Given the description of an element on the screen output the (x, y) to click on. 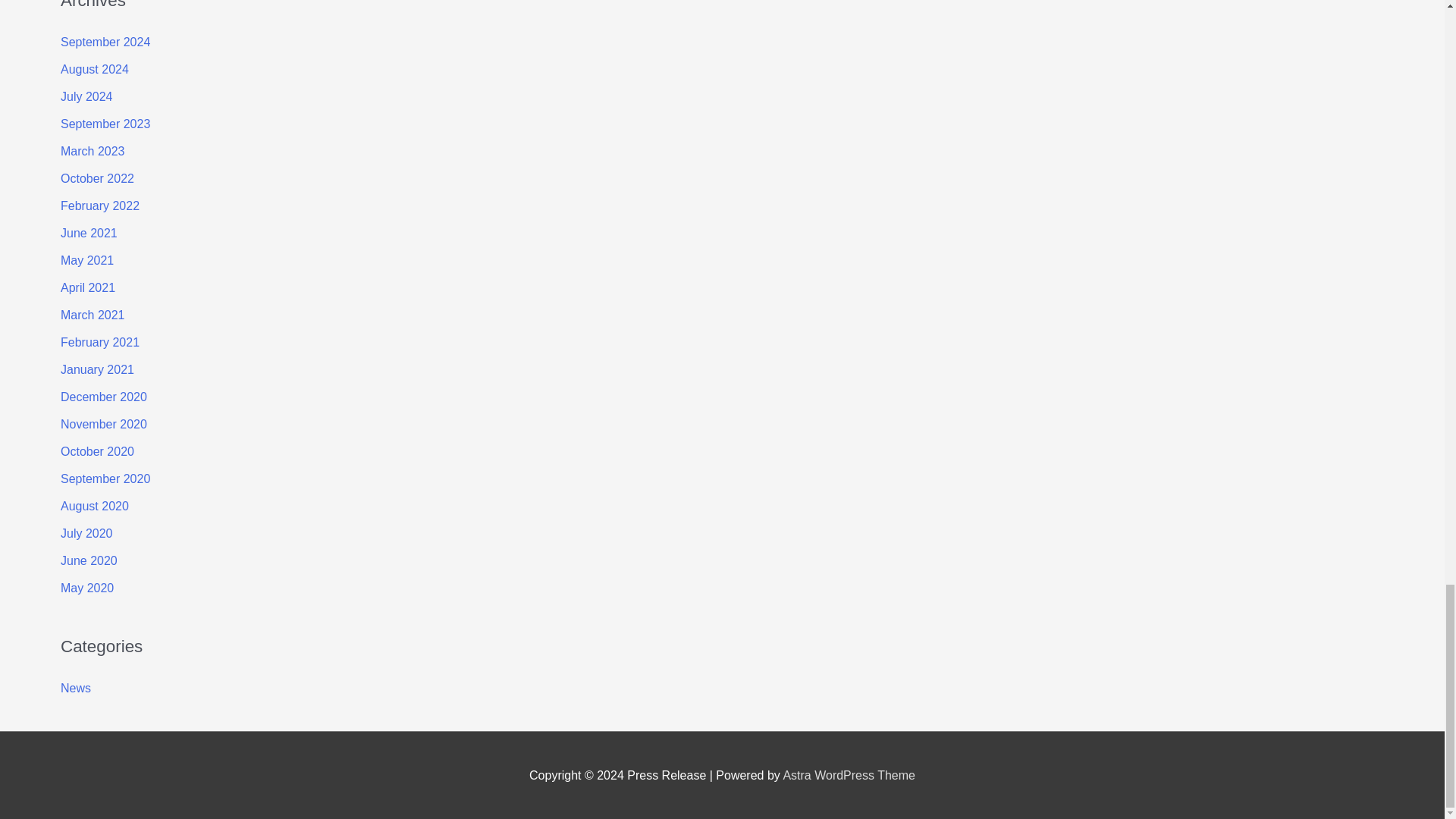
May 2021 (87, 259)
September 2023 (105, 123)
July 2024 (87, 96)
September 2024 (105, 42)
March 2021 (93, 314)
April 2021 (88, 287)
October 2022 (97, 178)
June 2021 (89, 232)
March 2023 (93, 151)
February 2022 (100, 205)
